Given the description of an element on the screen output the (x, y) to click on. 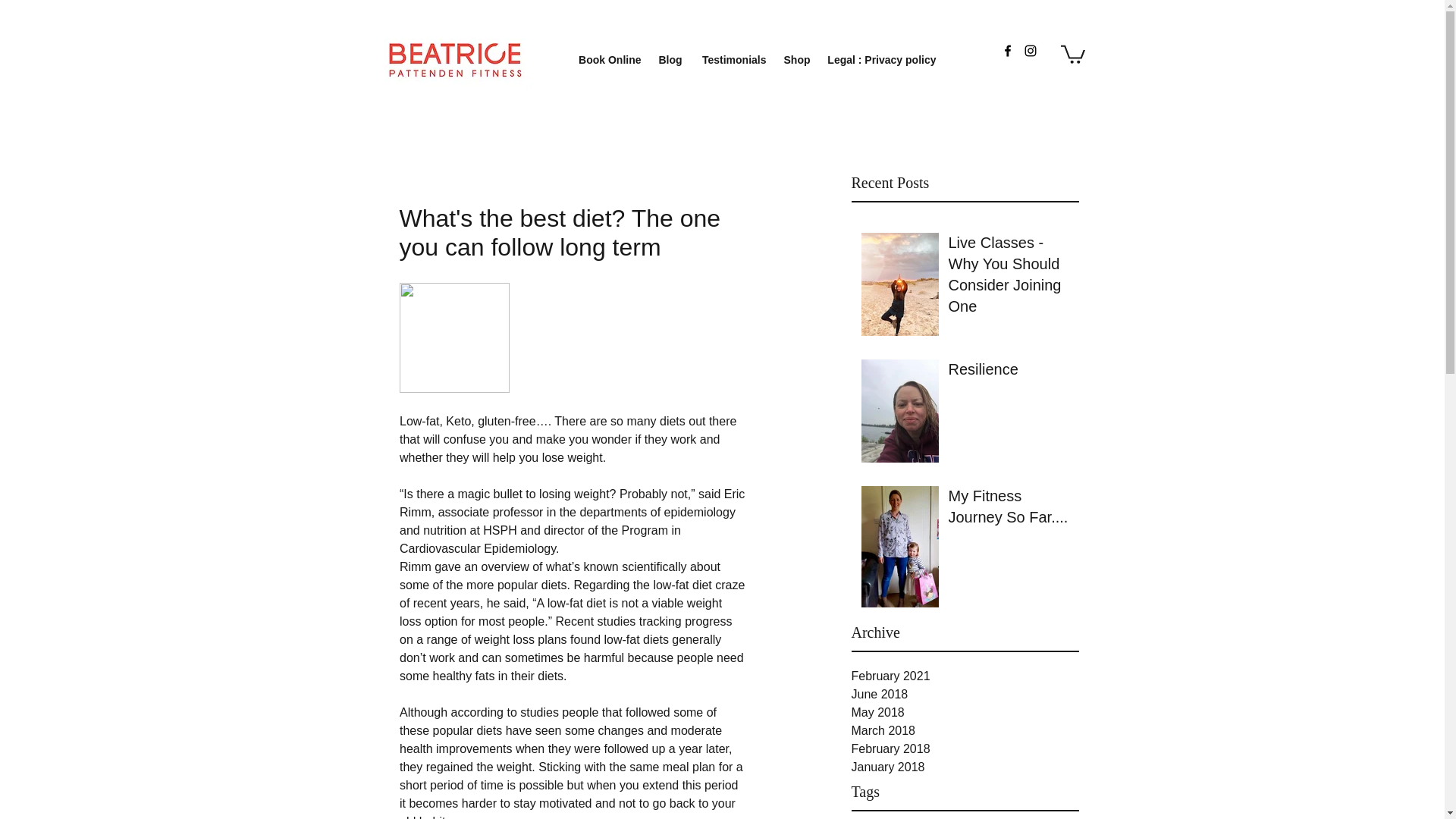
March 2018 (964, 730)
Testimonials (732, 59)
My Fitness Journey So Far.... (1007, 509)
February 2021 (964, 676)
Legal : Privacy policy (879, 59)
Resilience (1007, 371)
Book Online (606, 59)
Shop (794, 59)
February 2018 (964, 749)
June 2018 (964, 694)
